Given the description of an element on the screen output the (x, y) to click on. 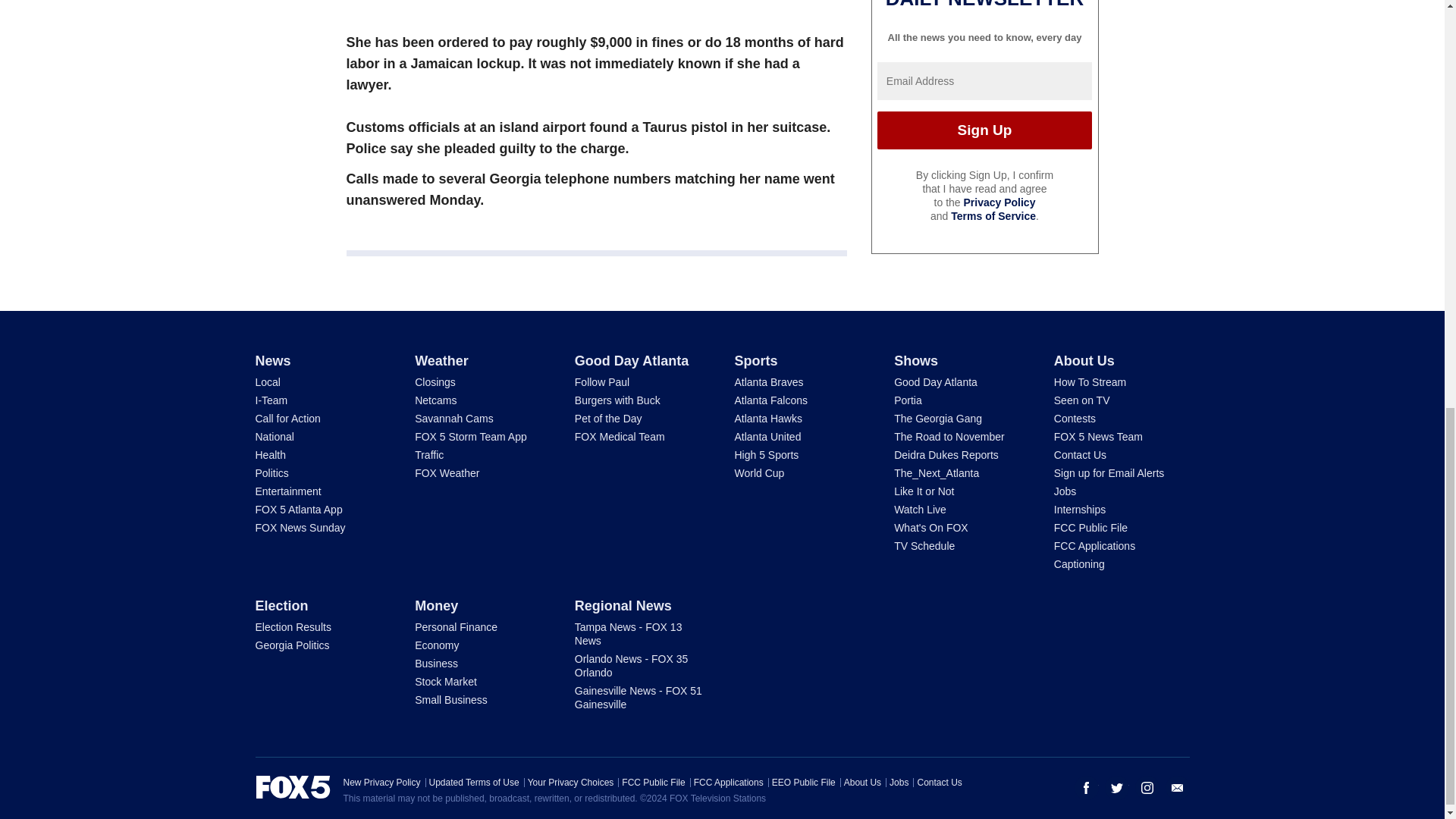
Sign Up (984, 98)
